Given the description of an element on the screen output the (x, y) to click on. 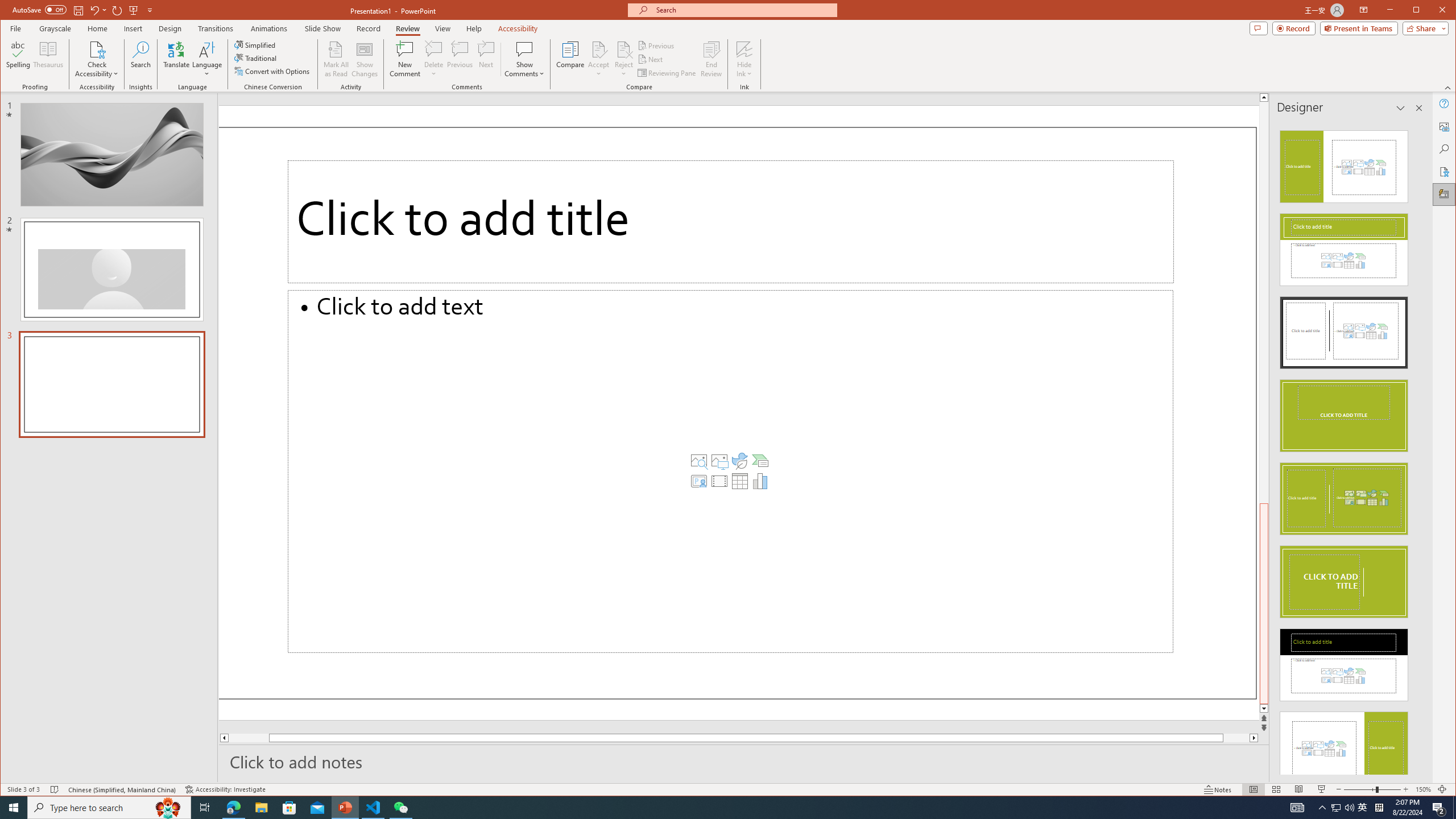
Previous (657, 45)
Reject (623, 59)
Accept (598, 59)
Convert with Options... (272, 70)
Recommended Design: Design Idea (1343, 163)
